Given the description of an element on the screen output the (x, y) to click on. 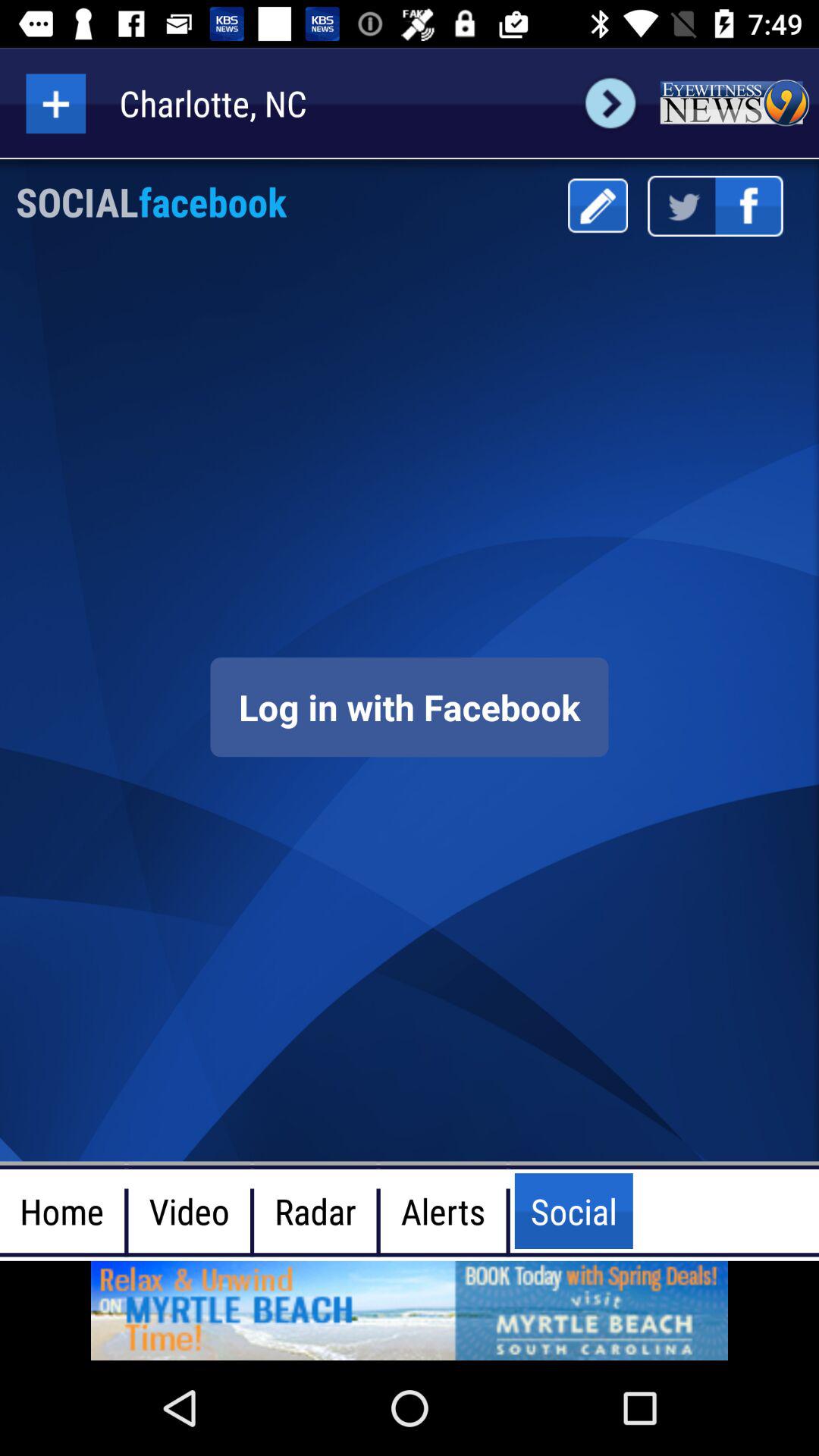
select add to feature (55, 103)
